Given the description of an element on the screen output the (x, y) to click on. 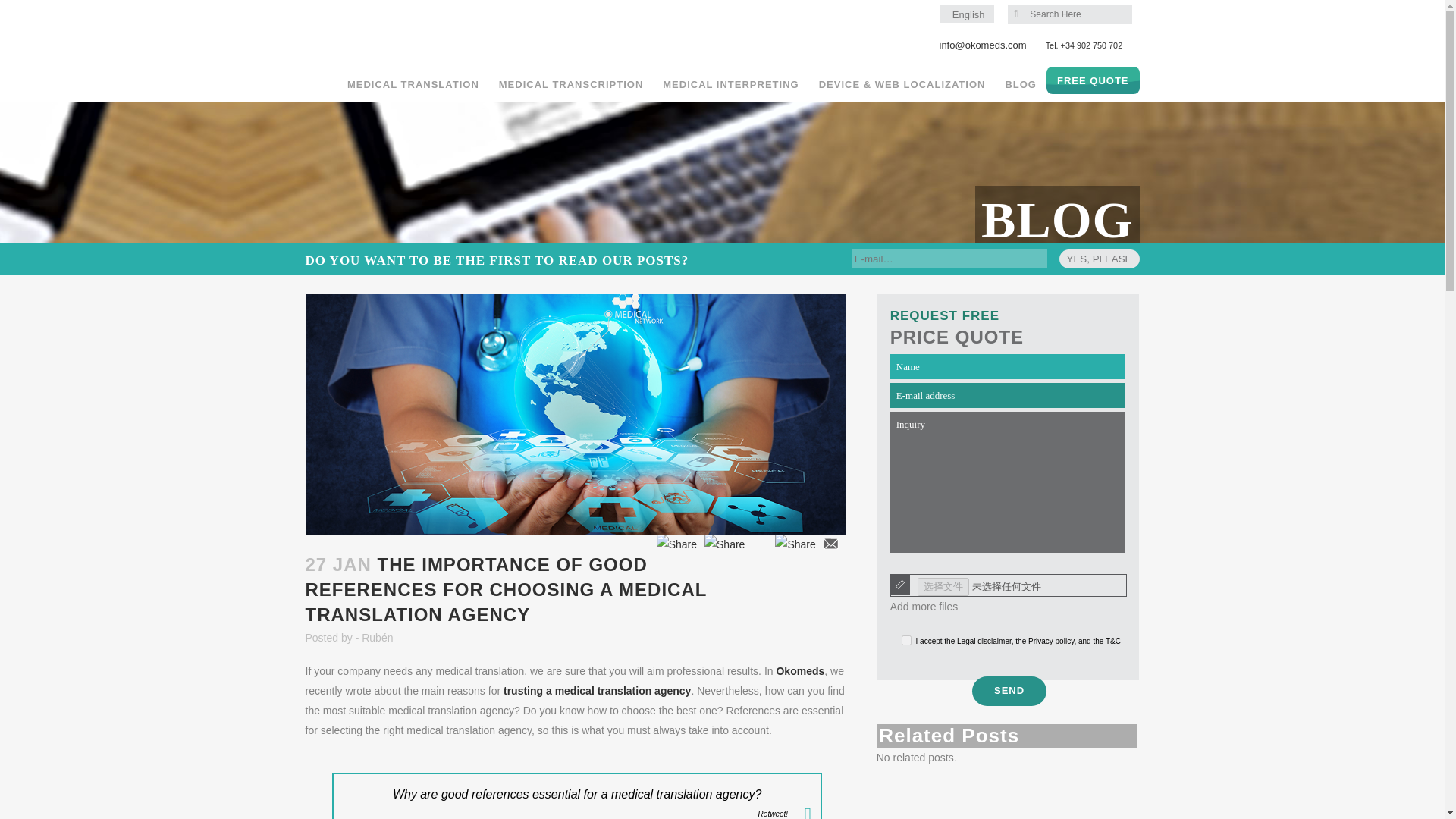
I accept (906, 640)
MEDICAL TRANSCRIPTION (570, 84)
MEDICAL INTERPRETING (730, 84)
trusting a medical translation agency (596, 689)
Send (1008, 690)
YES, PLEASE (1099, 258)
MEDICAL TRANSLATION (413, 84)
BLOG (1020, 84)
English (965, 13)
YES, PLEASE (1099, 258)
